Given the description of an element on the screen output the (x, y) to click on. 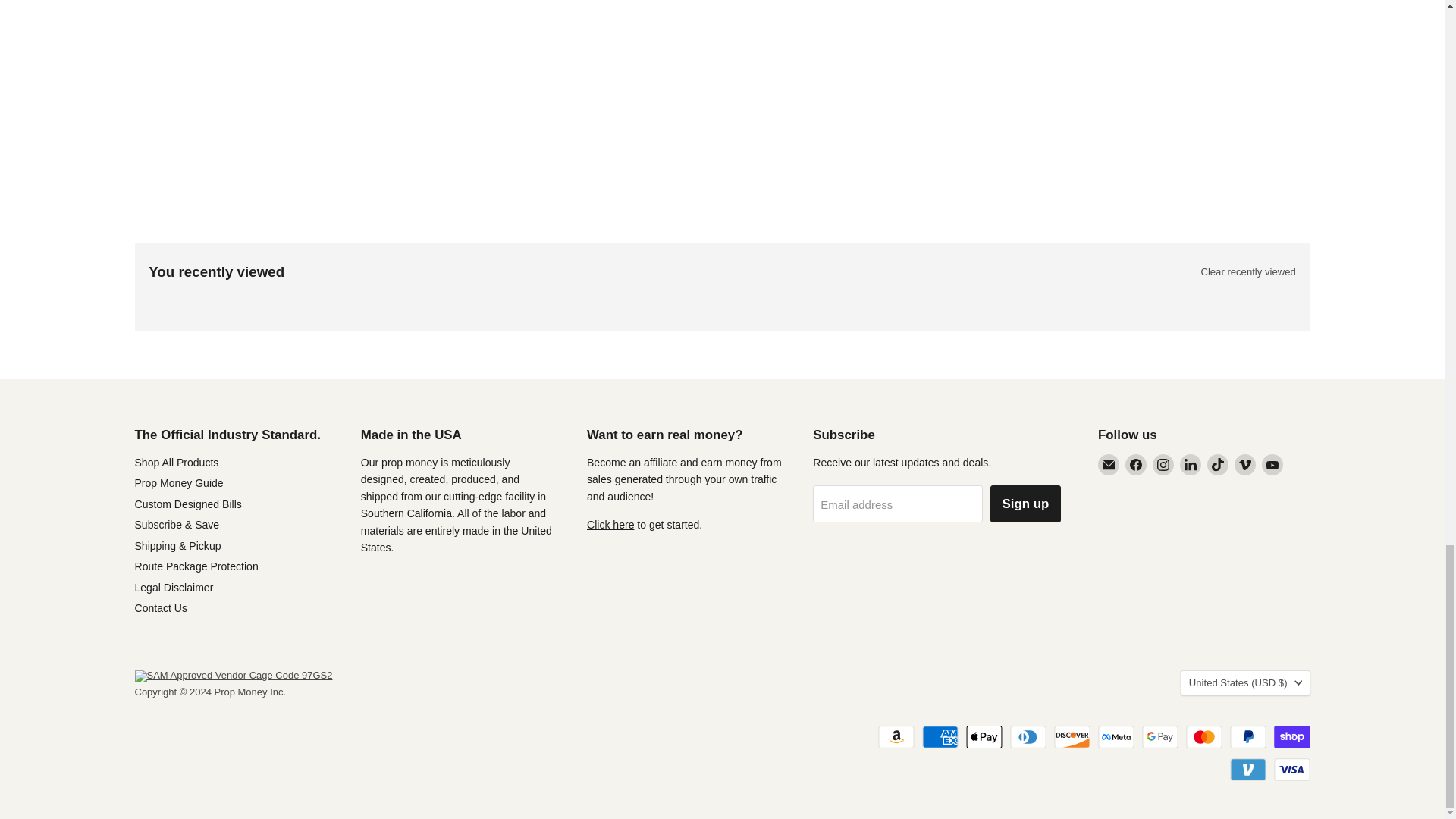
Instagram (1163, 464)
Facebook (1136, 464)
Email (1108, 464)
